Given the description of an element on the screen output the (x, y) to click on. 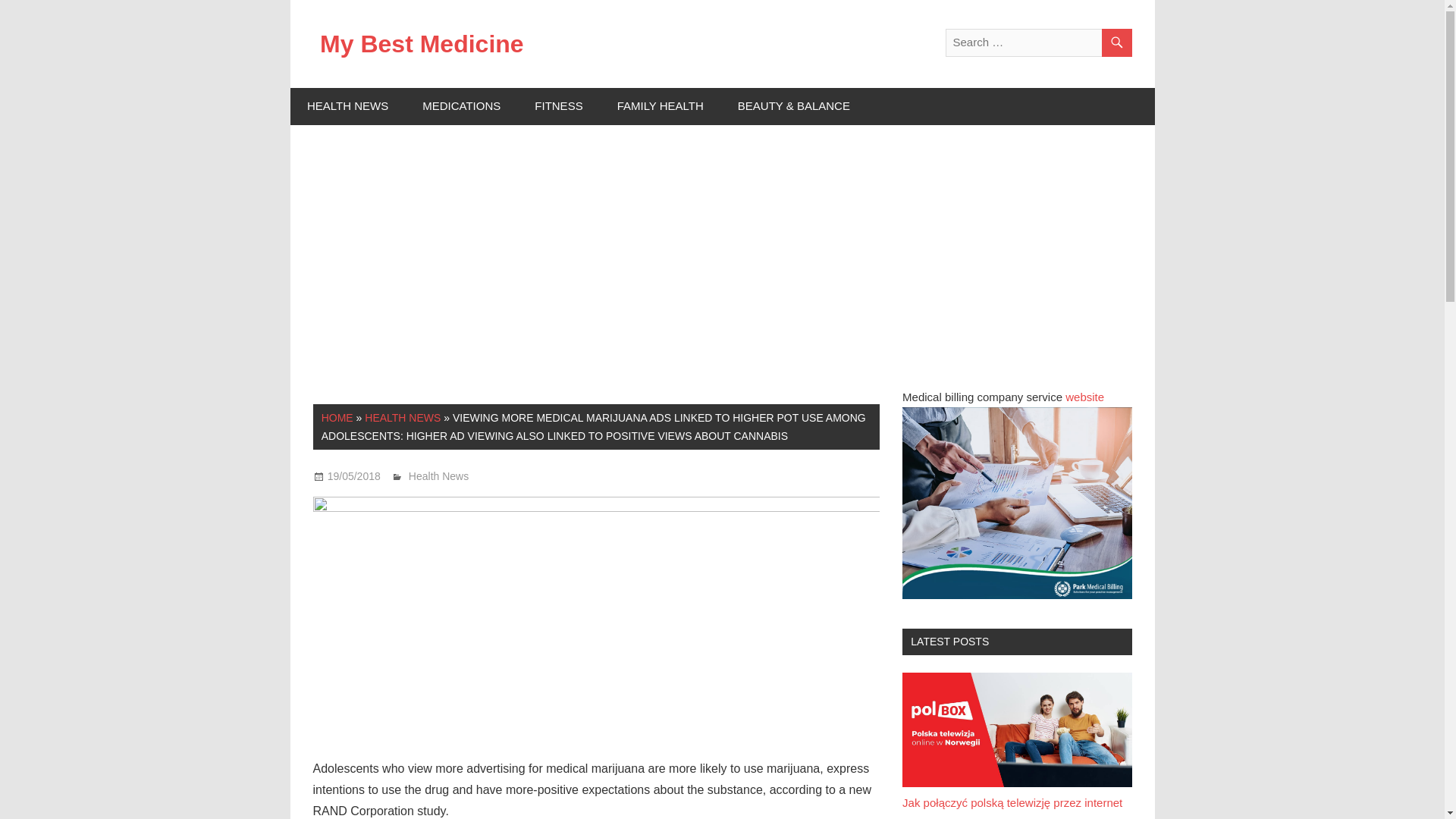
FAMILY HEALTH (659, 106)
01:33 (353, 476)
Search for: (1037, 42)
HOME (337, 417)
FITNESS (558, 106)
HEALTH NEWS (346, 106)
HEALTH NEWS (403, 417)
Health News (438, 476)
website (1084, 396)
My Best Medicine (422, 43)
